Given the description of an element on the screen output the (x, y) to click on. 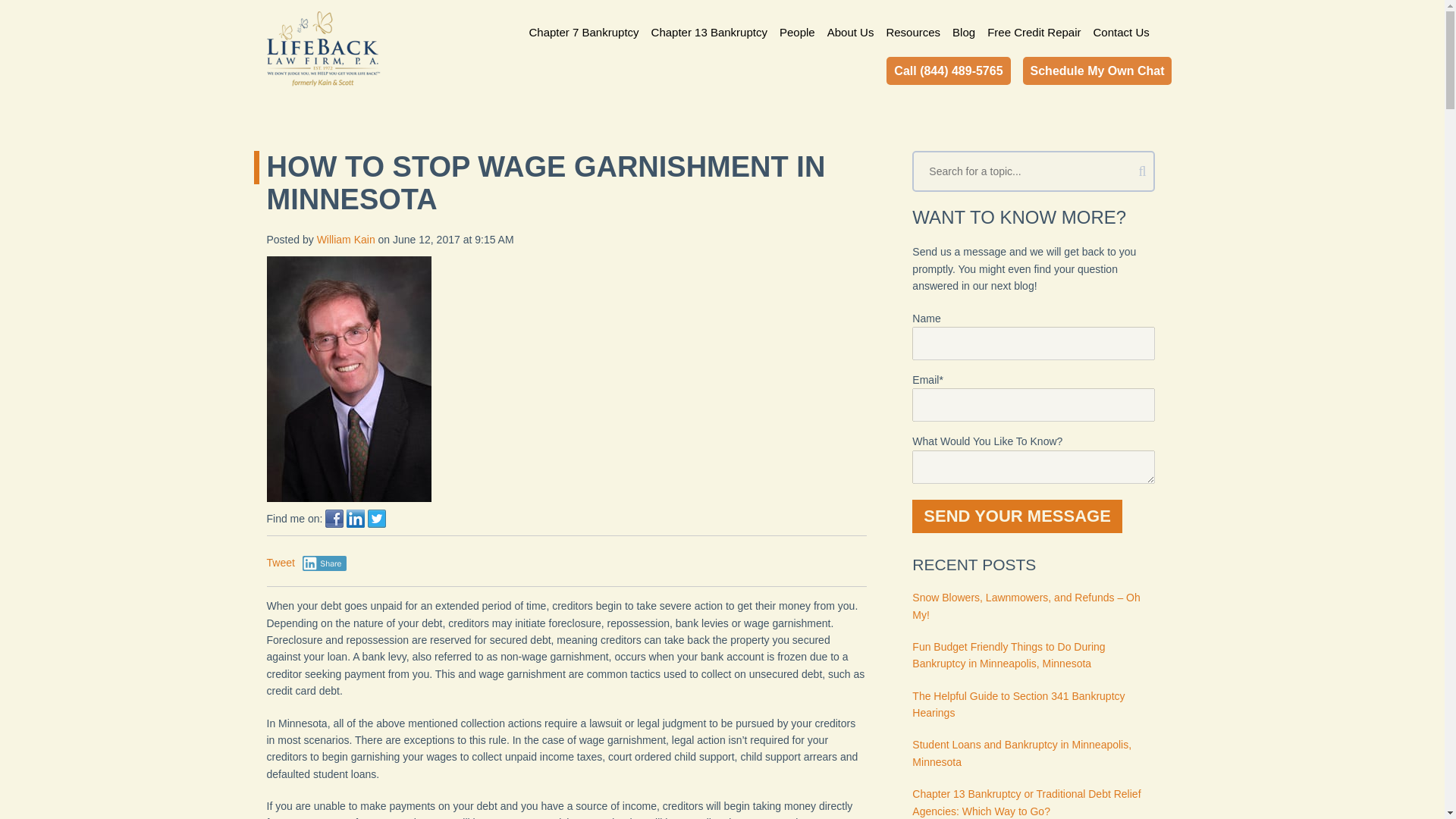
Live Chat Button (1414, 788)
Chapter 13 Bankruptcy (709, 30)
Chapter 7 Bankruptcy (586, 30)
About Us (850, 30)
LifeBack Law Firm, P.A. (323, 48)
People (797, 30)
Send Your Message (1017, 516)
